Given the description of an element on the screen output the (x, y) to click on. 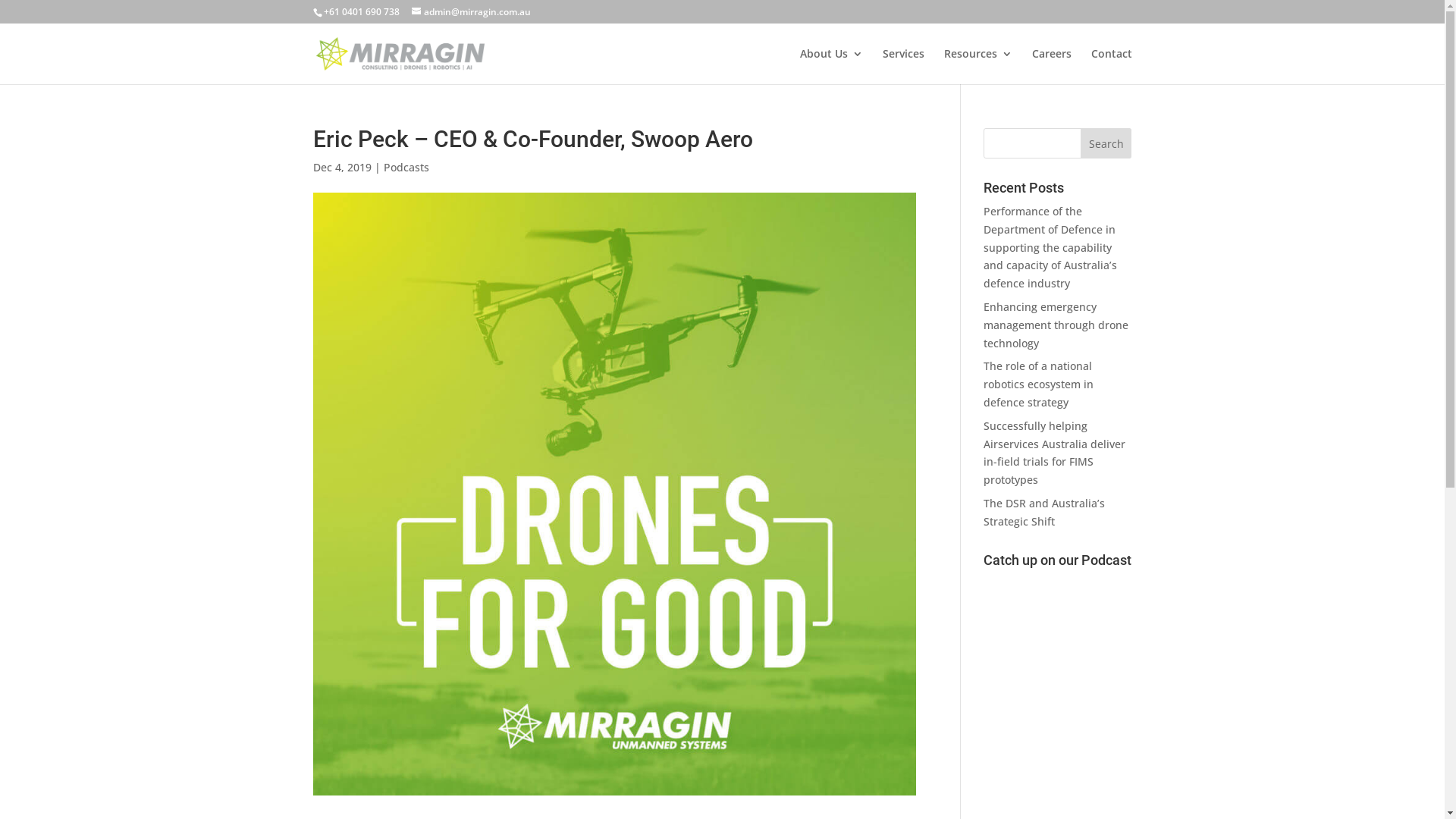
Search Element type: text (1106, 143)
Careers Element type: text (1050, 66)
Enhancing emergency management through drone technology Element type: text (1055, 324)
About Us Element type: text (830, 66)
Services Element type: text (903, 66)
Contact Element type: text (1110, 66)
admin@mirragin.com.au Element type: text (470, 11)
+61 0401 690 738 Element type: text (360, 11)
Resources Element type: text (977, 66)
Podcasts Element type: text (406, 167)
